Given the description of an element on the screen output the (x, y) to click on. 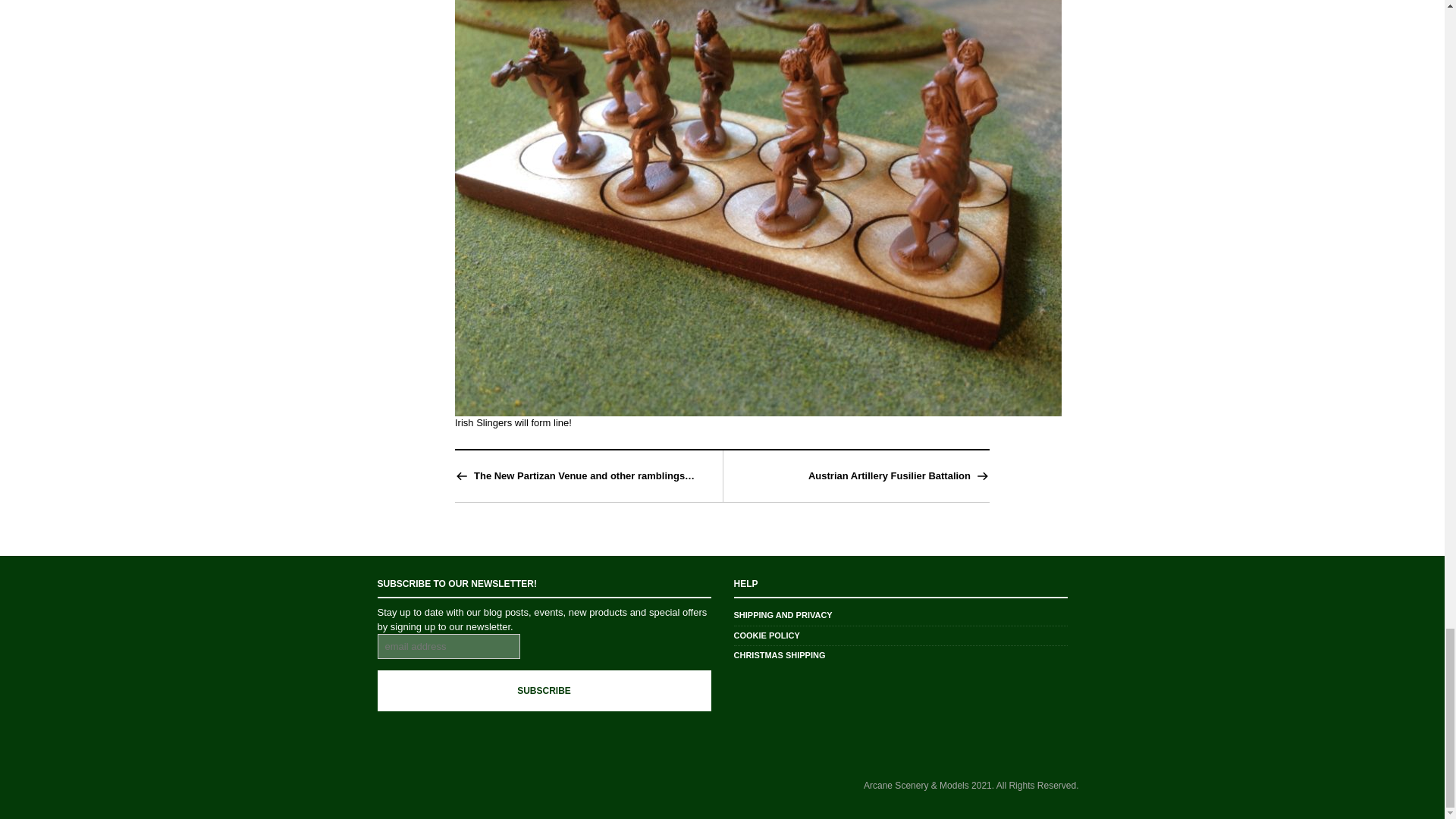
COOKIE POLICY (766, 634)
Subscribe (544, 690)
SHIPPING AND PRIVACY (782, 614)
Austrian Artillery Fusilier Battalion (889, 476)
Subscribe (544, 690)
CHRISTMAS SHIPPING (779, 655)
